Given the description of an element on the screen output the (x, y) to click on. 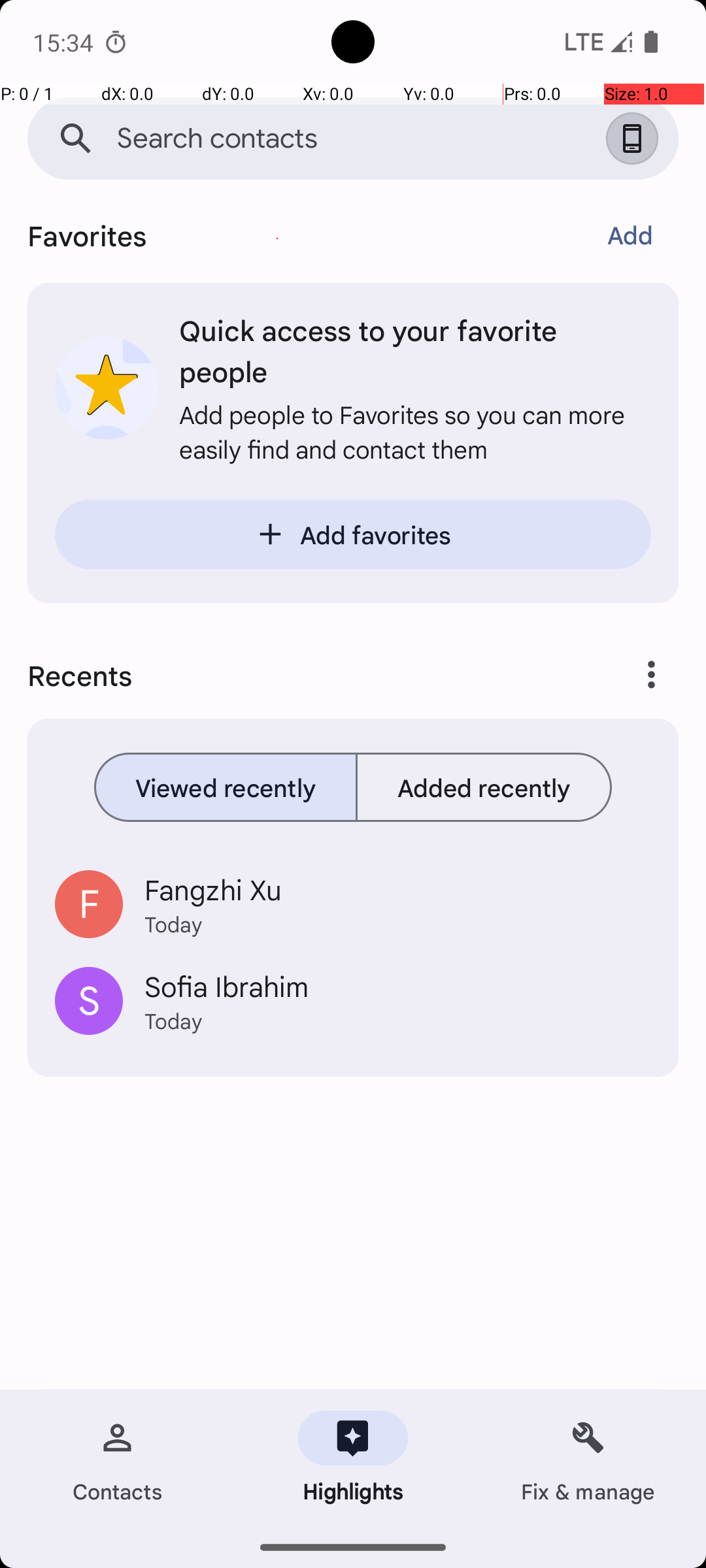
Quick access to your favorite people Element type: android.widget.TextView (415, 350)
Add people to Favorites so you can more easily find and contact them Element type: android.widget.TextView (415, 431)
Add favorites Element type: android.widget.Button (352, 534)
Recents Element type: android.widget.TextView (298, 674)
Viewed recently Element type: android.widget.CompoundButton (225, 787)
Added recently Element type: android.widget.CompoundButton (483, 787)
Fangzhi Xu Element type: android.widget.TextView (397, 888)
Sofia Ibrahim Element type: android.widget.TextView (397, 985)
